Given the description of an element on the screen output the (x, y) to click on. 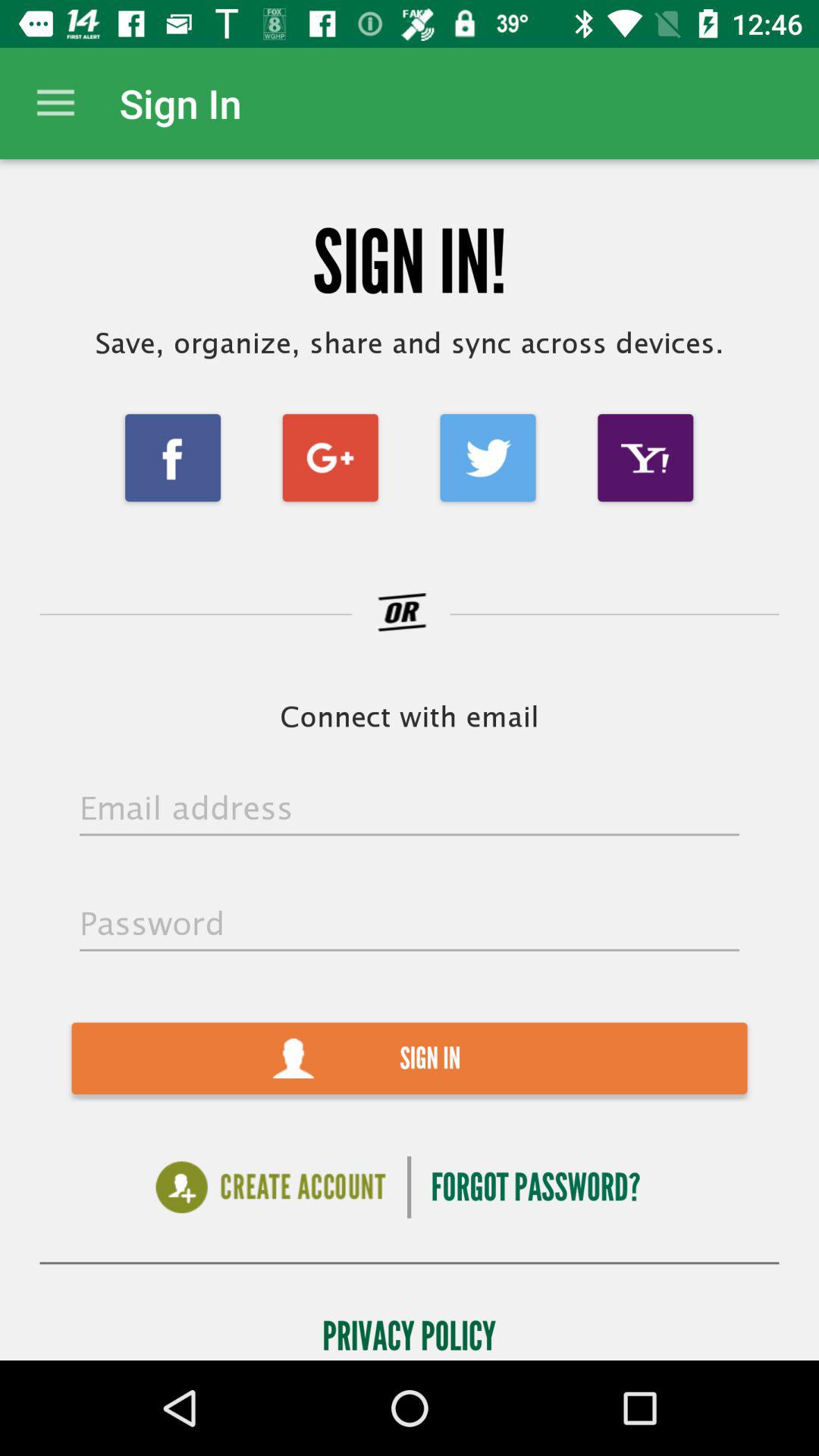
swipe to privacy policy icon (408, 1332)
